Given the description of an element on the screen output the (x, y) to click on. 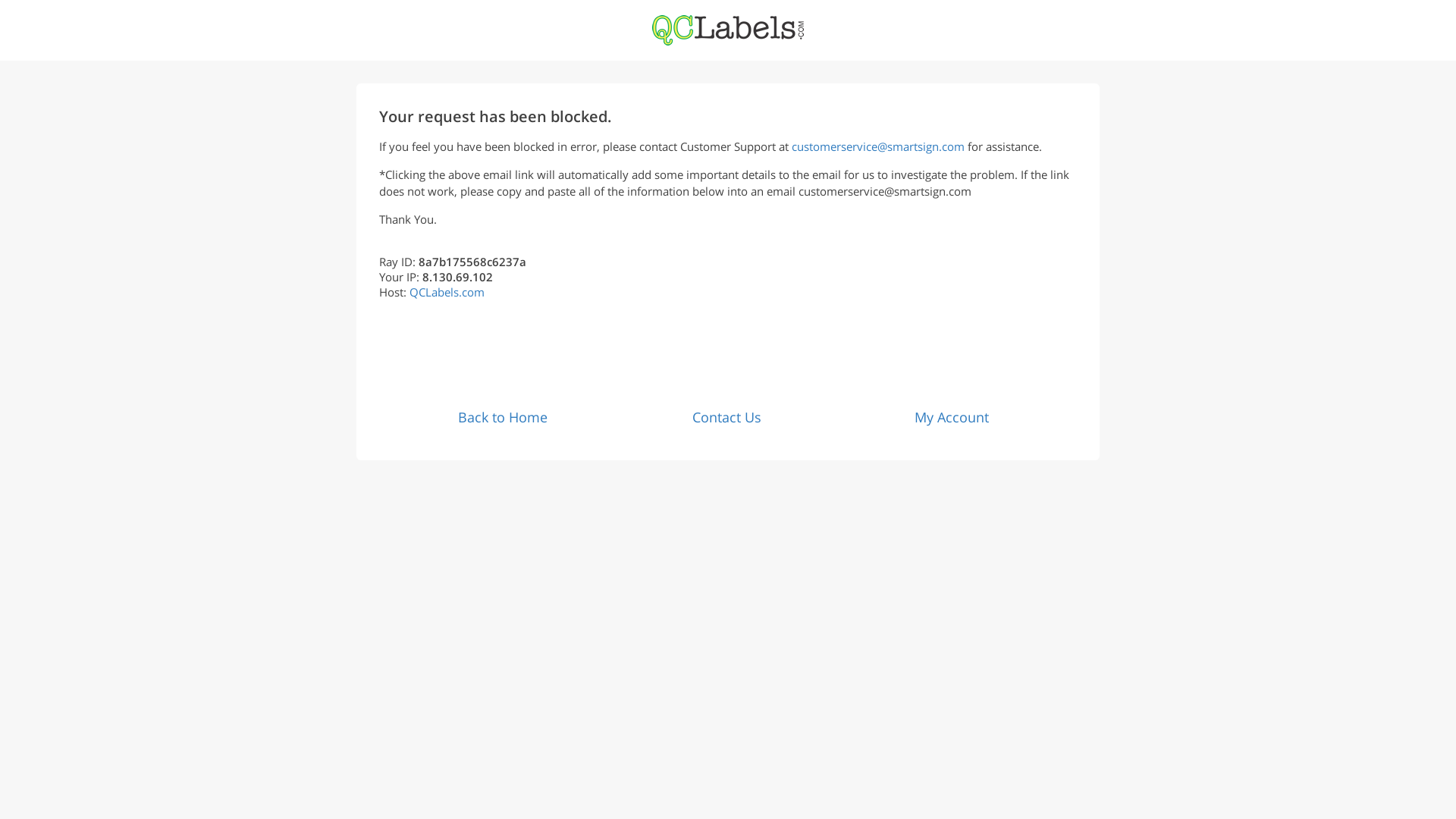
Back to Home (502, 416)
QCLabels.com (446, 291)
Contact Us (727, 416)
My Account (951, 416)
